Given the description of an element on the screen output the (x, y) to click on. 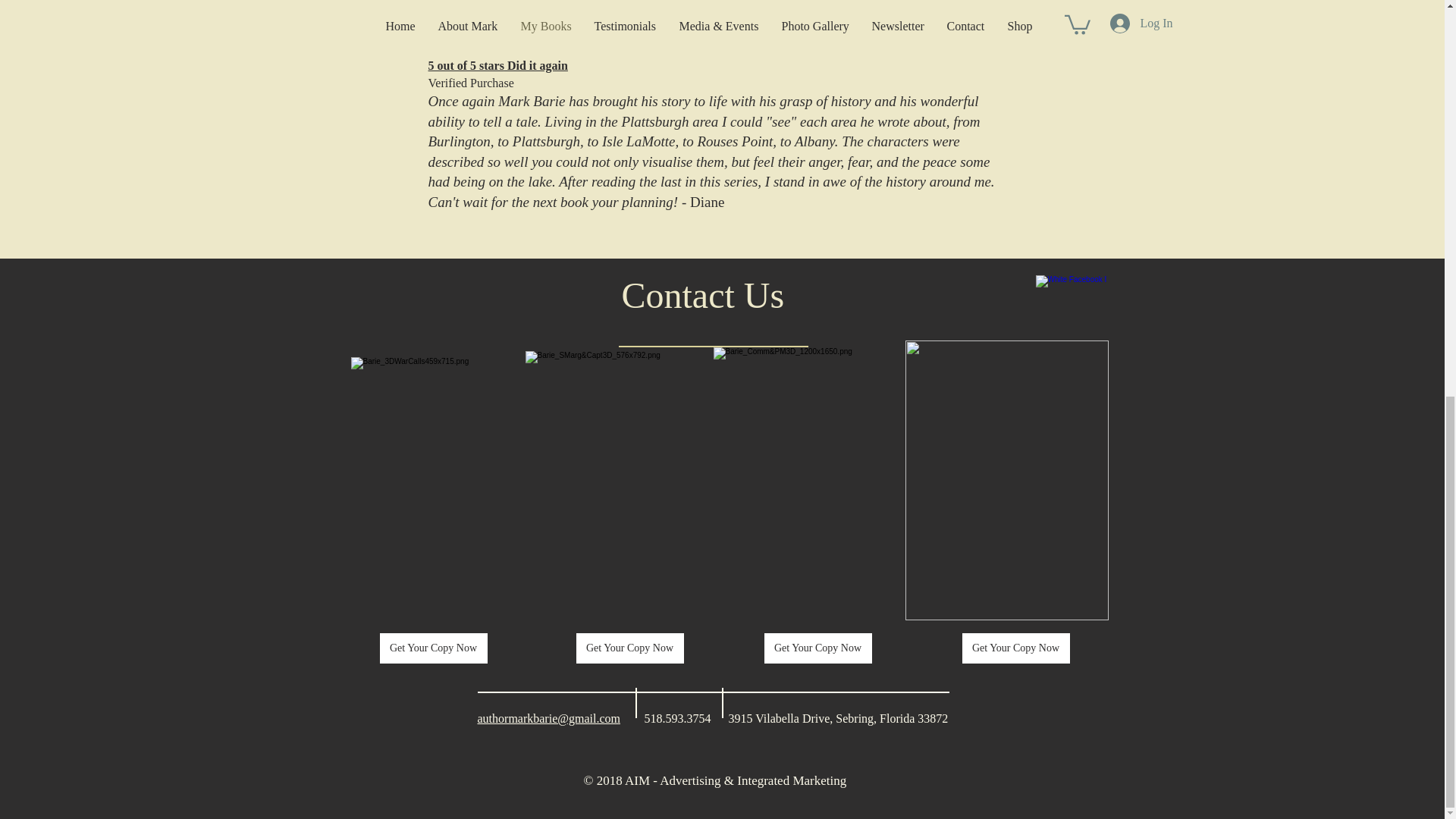
Get Your Copy Now (1014, 648)
Get Your Copy Now (818, 648)
Get Your Copy Now (630, 648)
5 out of 5 stars (465, 65)
Get Your Copy Now (432, 648)
 Did it again (535, 65)
